Given the description of an element on the screen output the (x, y) to click on. 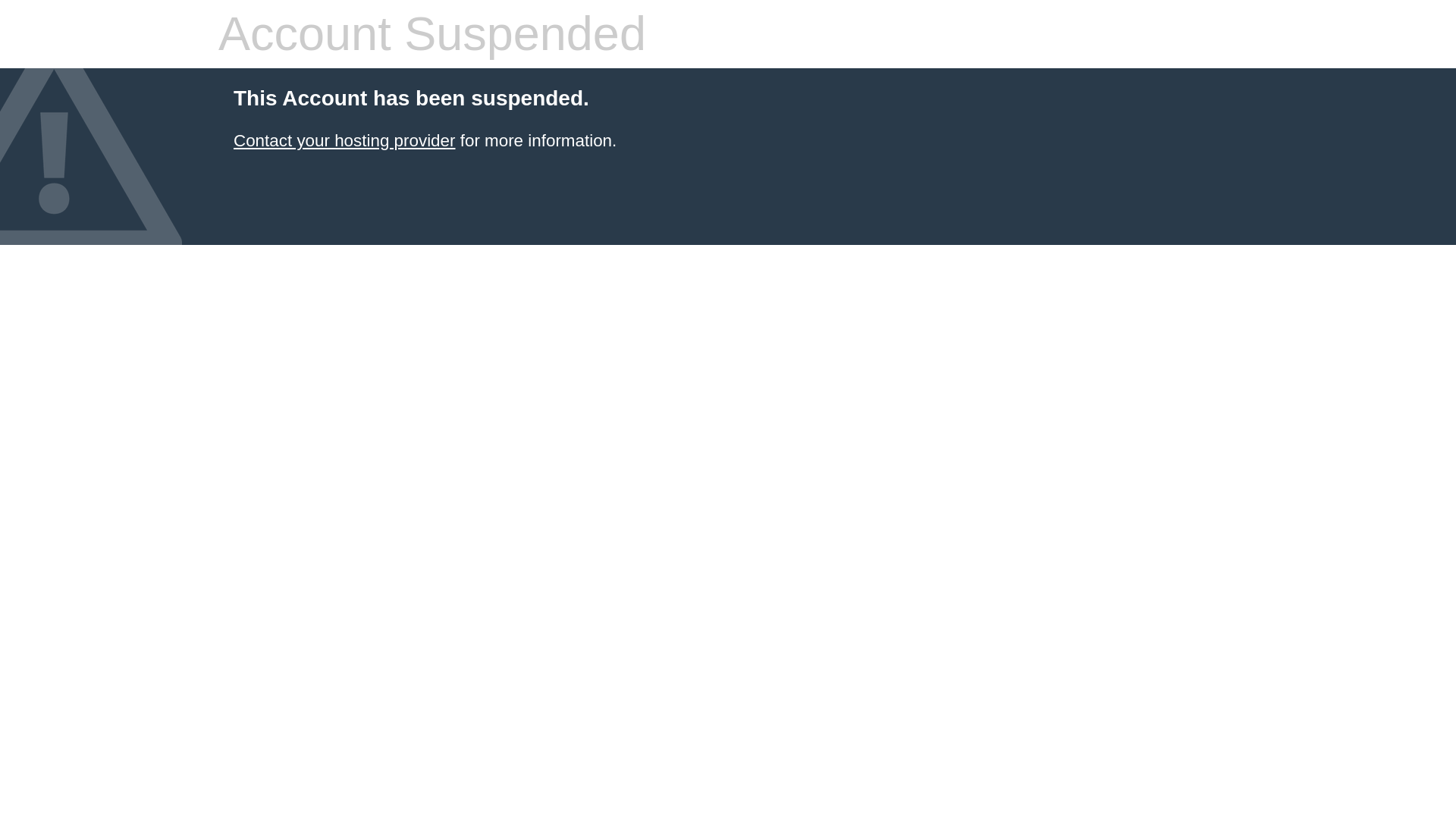
Contact your hosting provider (343, 140)
